Given the description of an element on the screen output the (x, y) to click on. 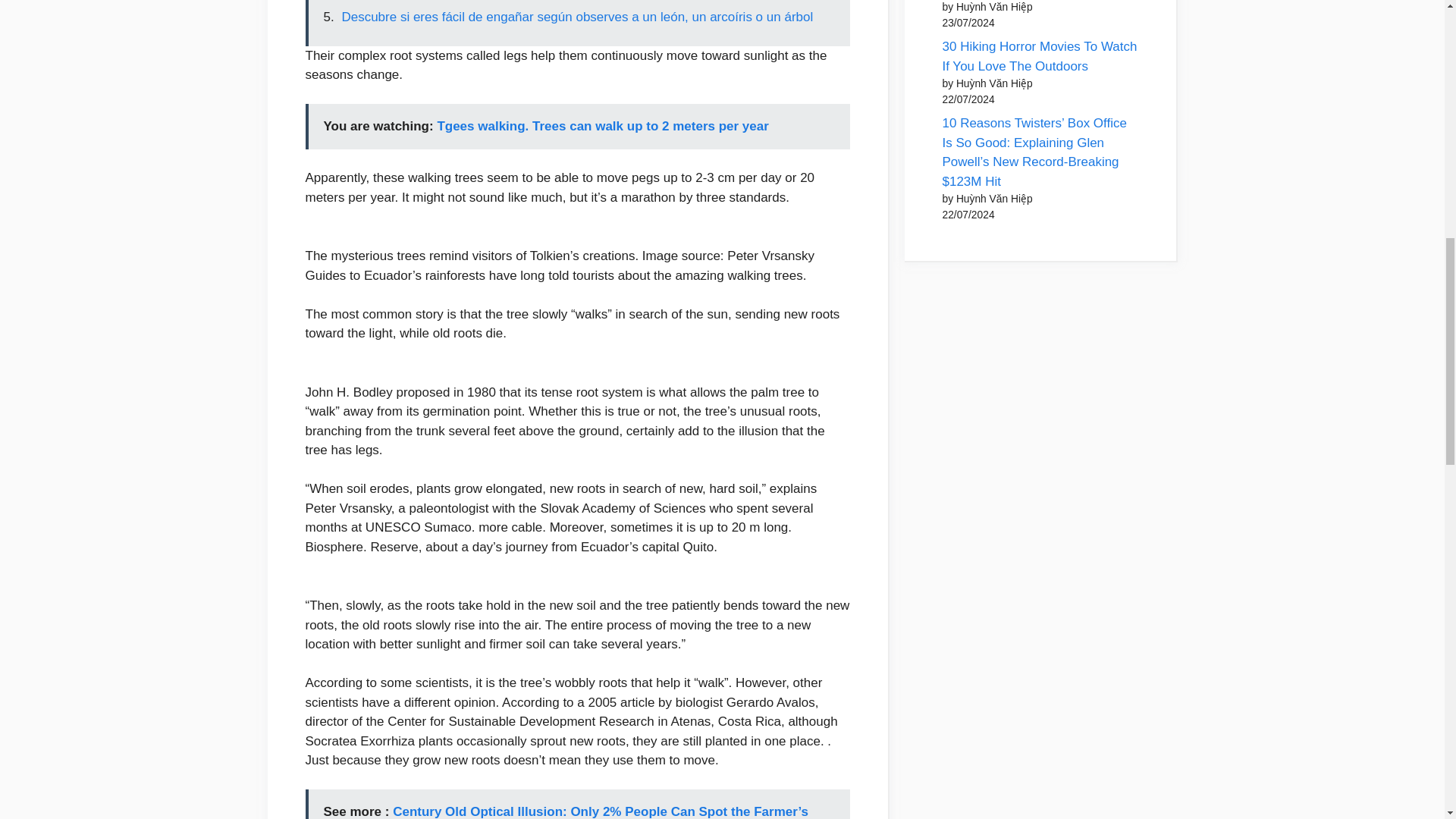
30 Hiking Horror Movies To Watch If You Love The Outdoors (1039, 56)
Tgees walking. Trees can walk up to 2 meters per year (602, 125)
